Given the description of an element on the screen output the (x, y) to click on. 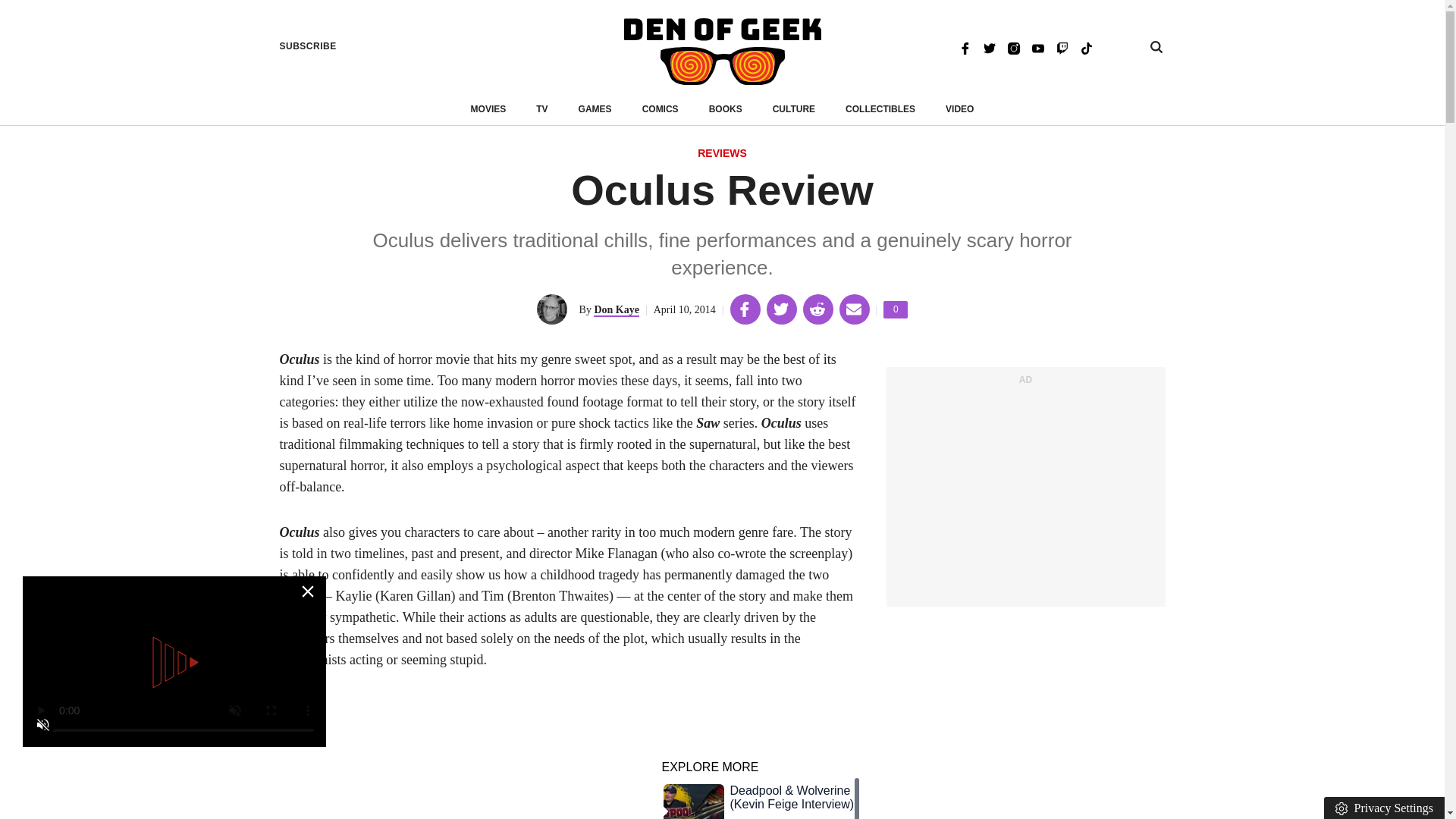
GAMES (594, 109)
3rd party ad content (1024, 493)
COLLECTIBLES (880, 109)
Don Kaye (895, 309)
Twitch (616, 309)
SUBSCRIBE (1061, 46)
50 (307, 46)
CULTURE (174, 751)
BOOKS (794, 109)
MOVIES (725, 109)
Instagram (488, 109)
REVIEWS (1013, 46)
Twitter (721, 153)
VIDEO (988, 46)
